Given the description of an element on the screen output the (x, y) to click on. 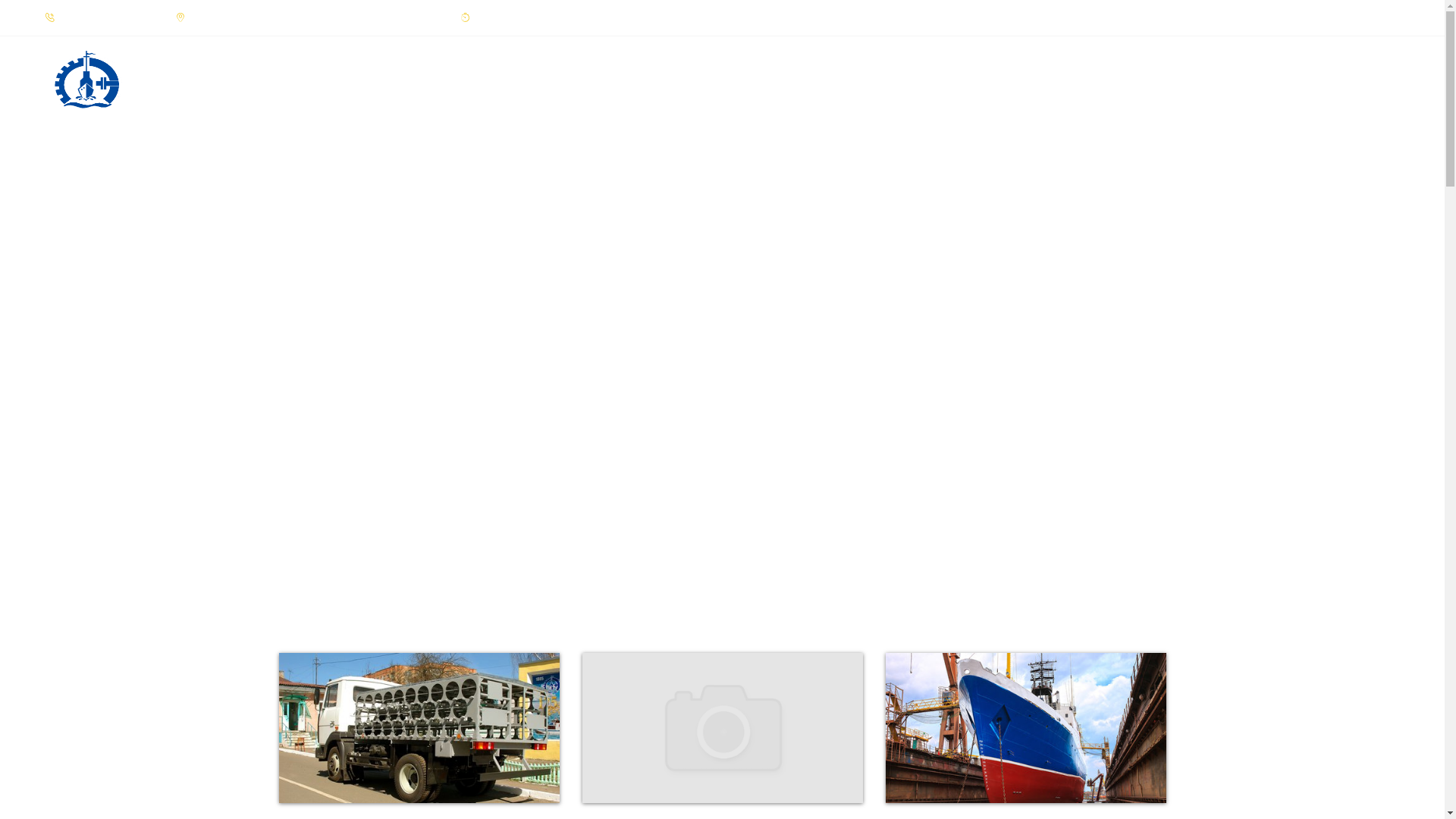
+ 375 165 65 31 94 Element type: text (94, 17)
